Given the description of an element on the screen output the (x, y) to click on. 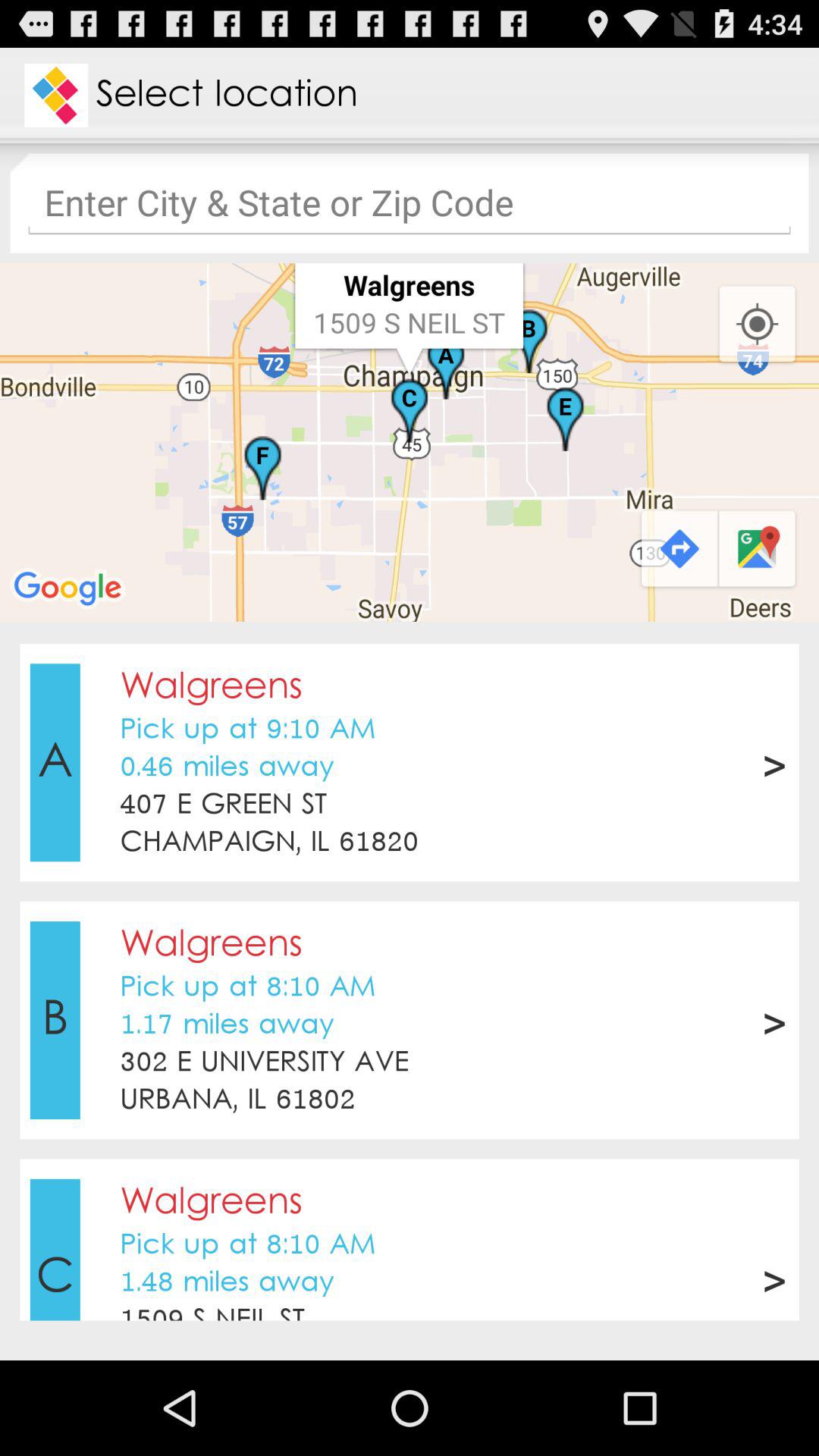
choose the app above the urbana, il 61802 icon (264, 1062)
